Given the description of an element on the screen output the (x, y) to click on. 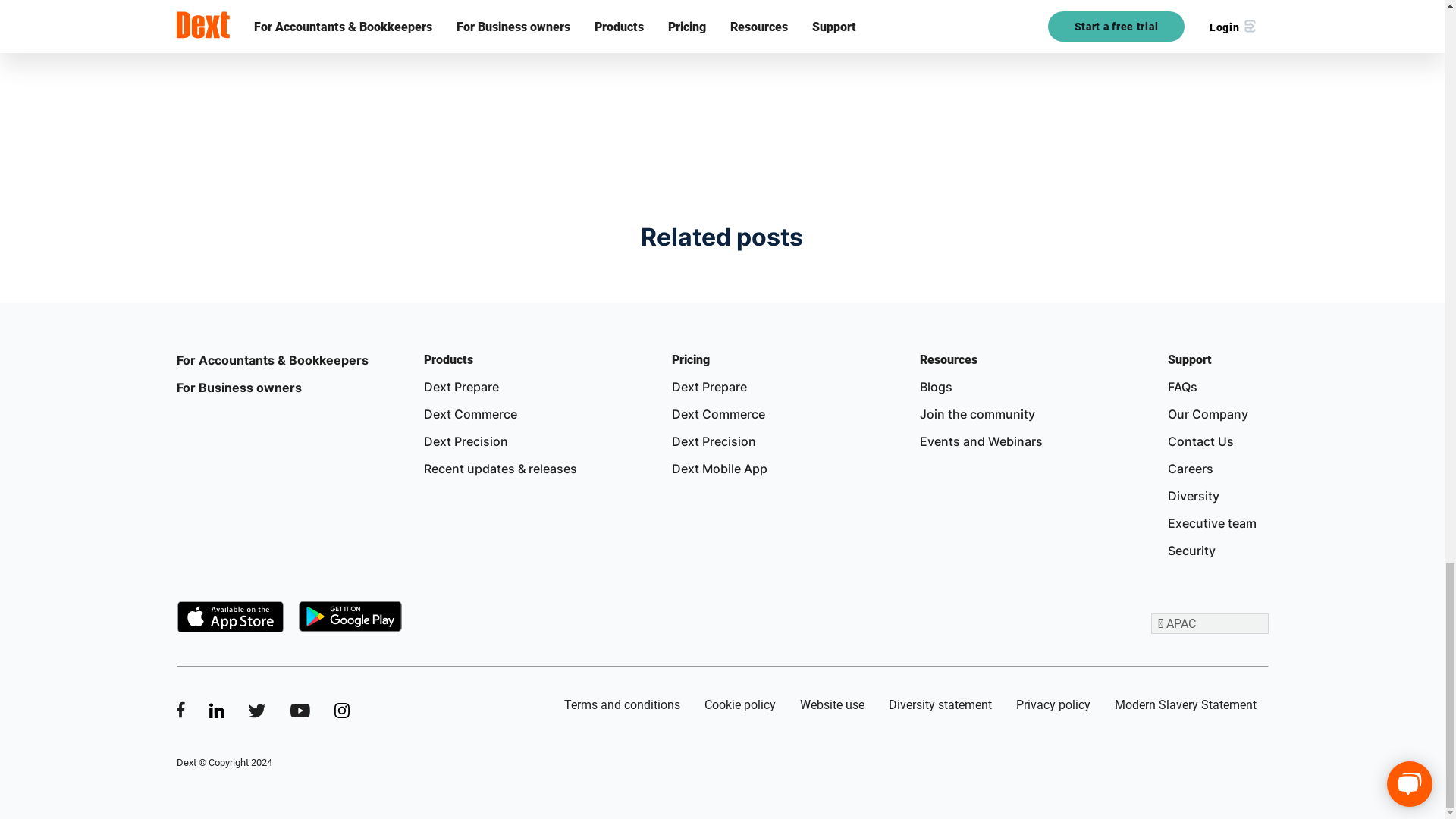
Dext Commerce (718, 413)
Dext Precision (713, 441)
For Business owners (238, 387)
Dext Mobile App (719, 468)
Events and Webinars (981, 441)
Dext Commerce (469, 413)
Dext Precision (465, 441)
Dext Mobile App (719, 468)
Dext Prepare (708, 386)
Join the community (977, 413)
Our Company (1207, 413)
For Business owners (238, 387)
FAQs (1181, 386)
Dext Commerce (469, 413)
Dext Prepare (461, 386)
